Given the description of an element on the screen output the (x, y) to click on. 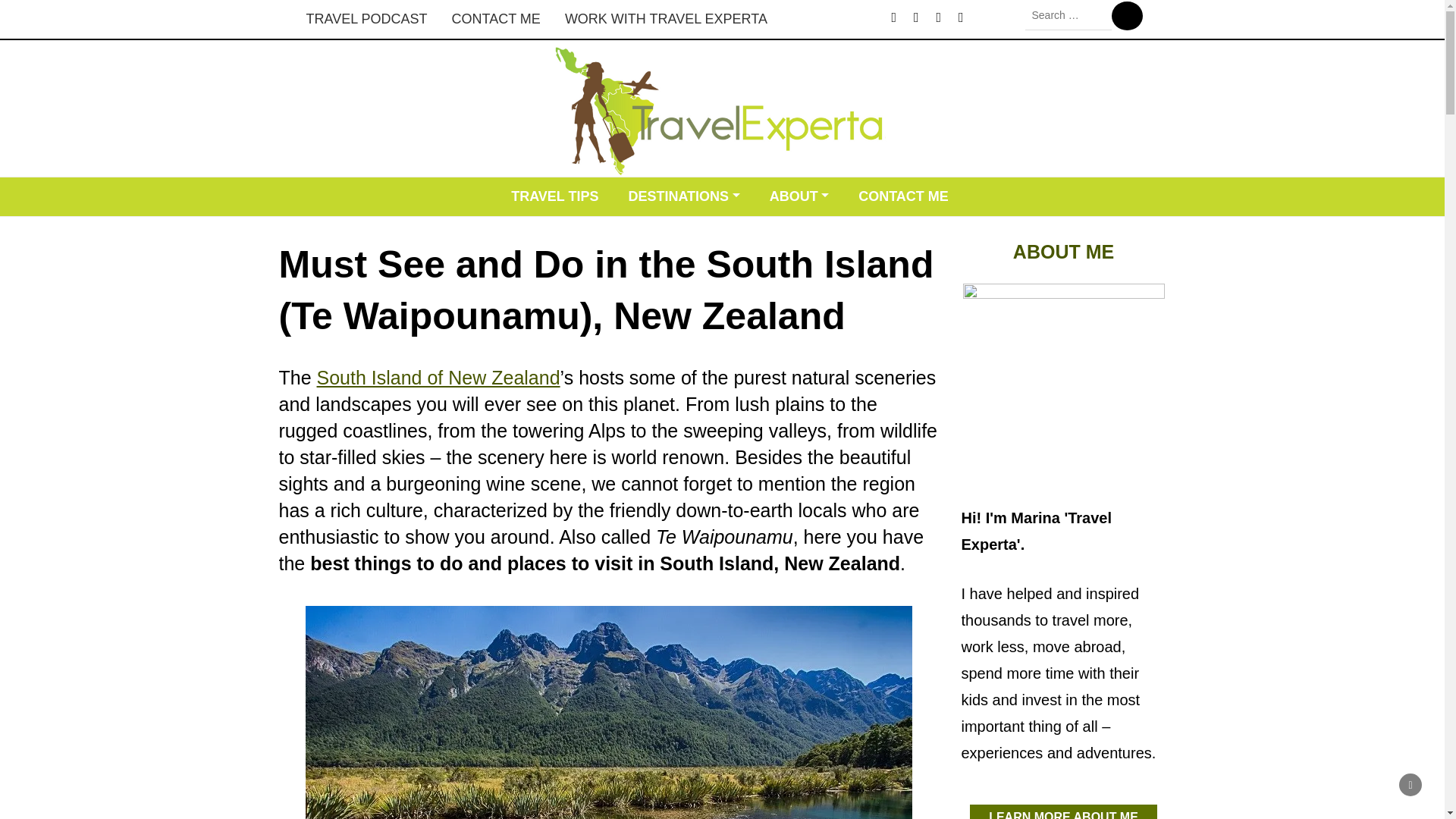
DESTINATIONS (683, 196)
Search (1126, 15)
ABOUT (799, 196)
Search (1126, 15)
Search (1126, 15)
WORK WITH TRAVEL EXPERTA (665, 19)
TRAVEL TIPS (554, 196)
Search for: (1068, 15)
TRAVEL PODCAST (366, 19)
CONTACT ME (902, 196)
